Given the description of an element on the screen output the (x, y) to click on. 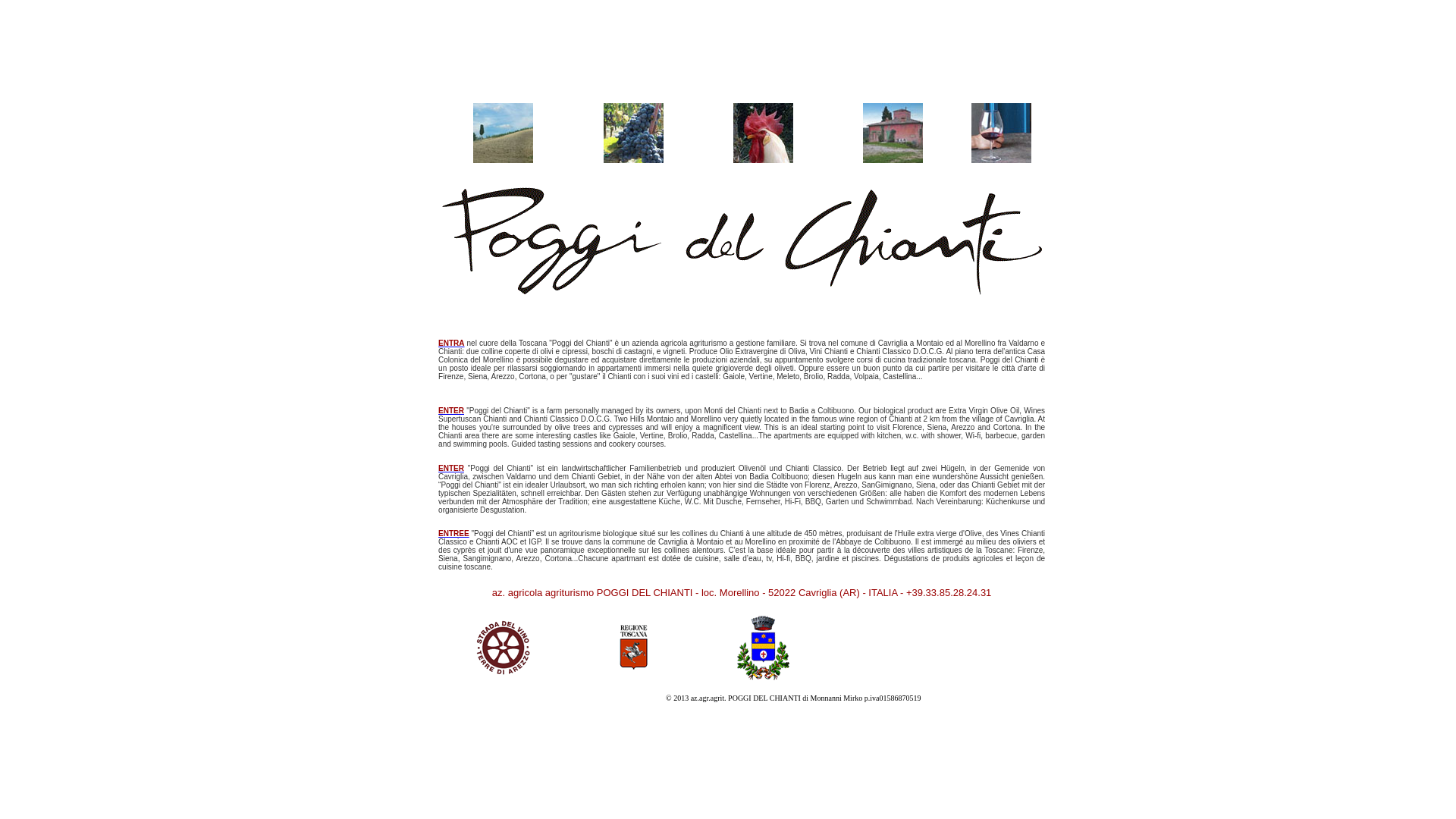
ENTER Element type: text (451, 410)
ENTER Element type: text (451, 468)
ENTREE Element type: text (453, 533)
ENTRA Element type: text (451, 342)
